Given the description of an element on the screen output the (x, y) to click on. 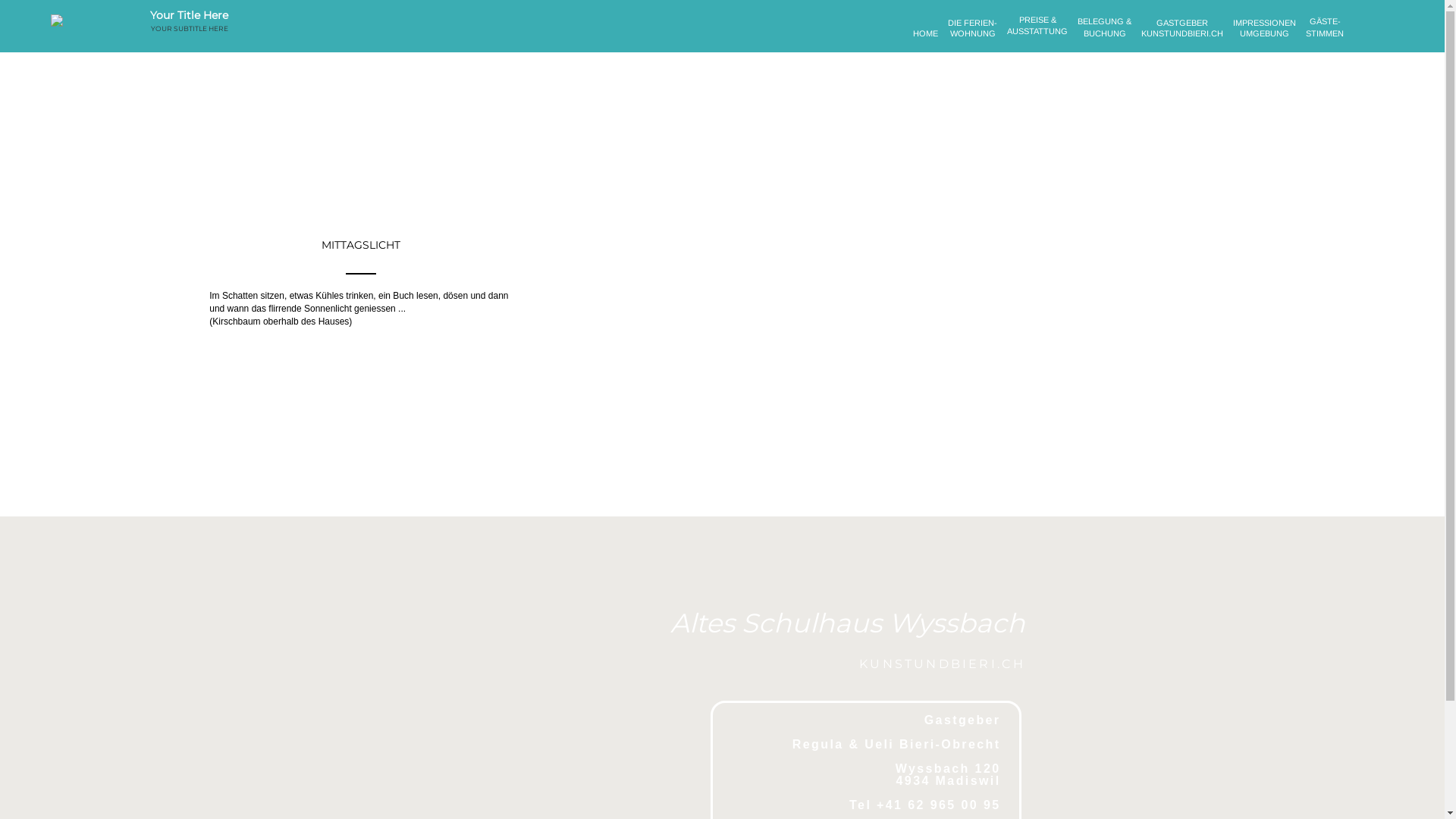
BELEGUNG &






BUCHUNG Element type: text (1104, 36)
PREISE &






AUSSTATTUNG Element type: text (1037, 36)
GASTGEBER





KUNSTUNDBIERI.CH Element type: text (1181, 36)
HOME Element type: text (925, 36)
DIE FERIEN-





WOHNUNG Element type: text (972, 36)
IMPRESSIONEN





UMGEBUNG Element type: text (1264, 36)
